Given the description of an element on the screen output the (x, y) to click on. 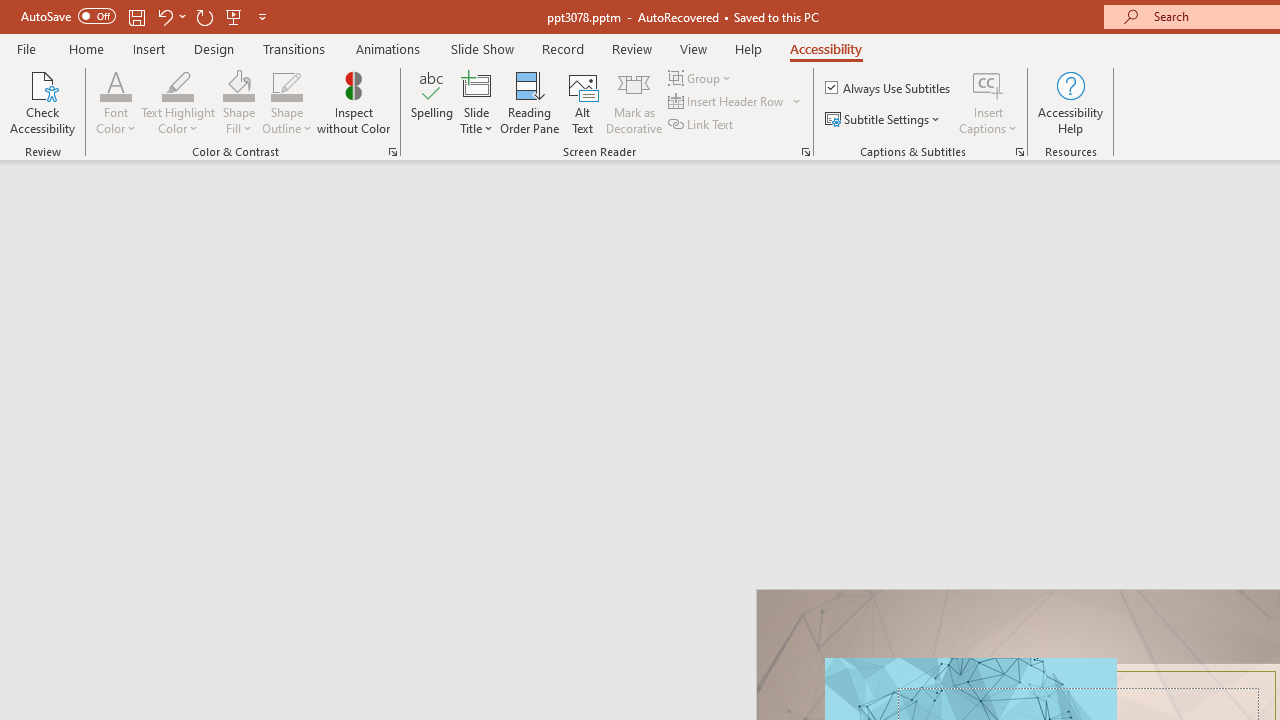
Inspect without Color (353, 102)
